Given the description of an element on the screen output the (x, y) to click on. 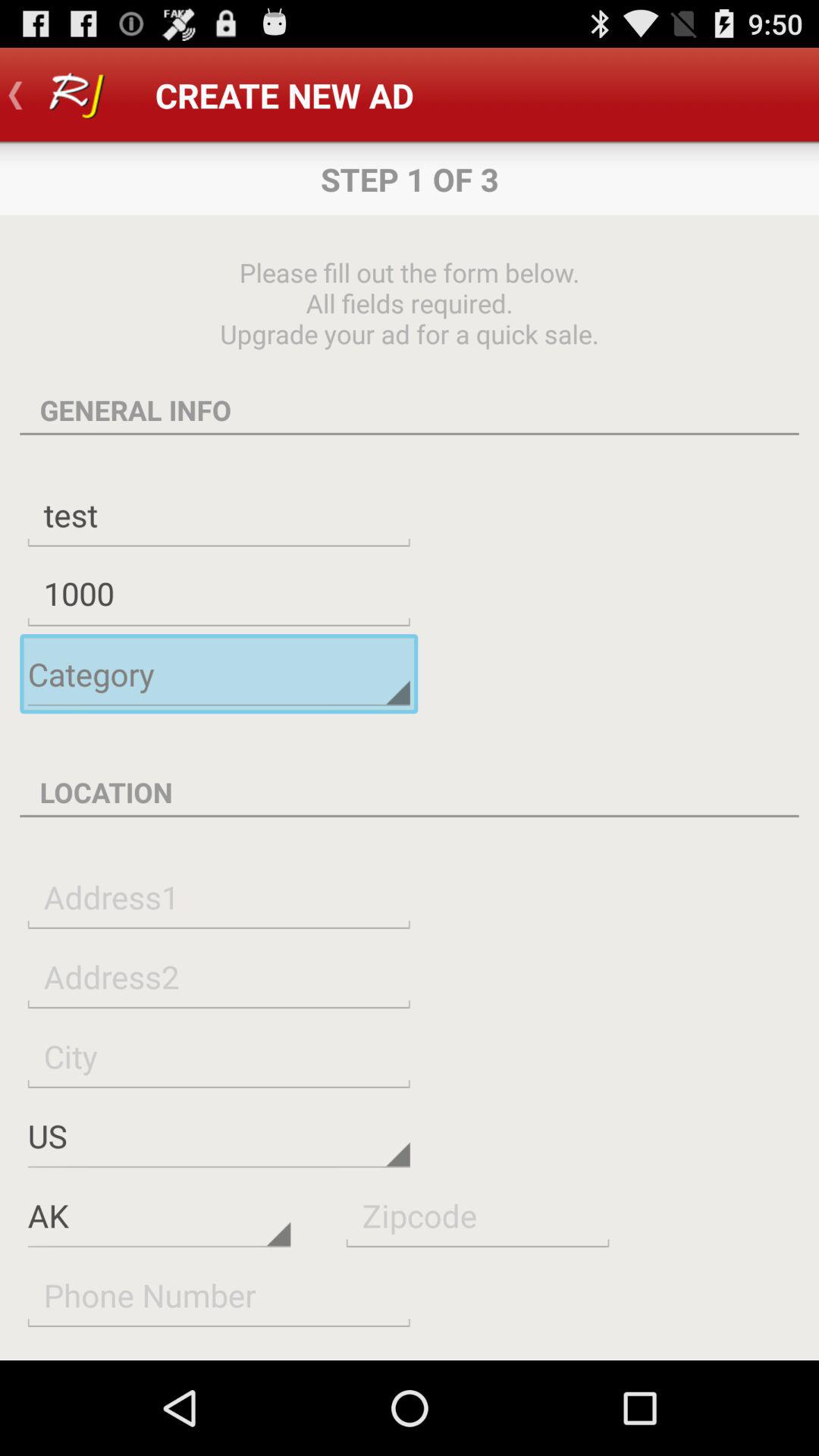
insert city (218, 1055)
